Given the description of an element on the screen output the (x, y) to click on. 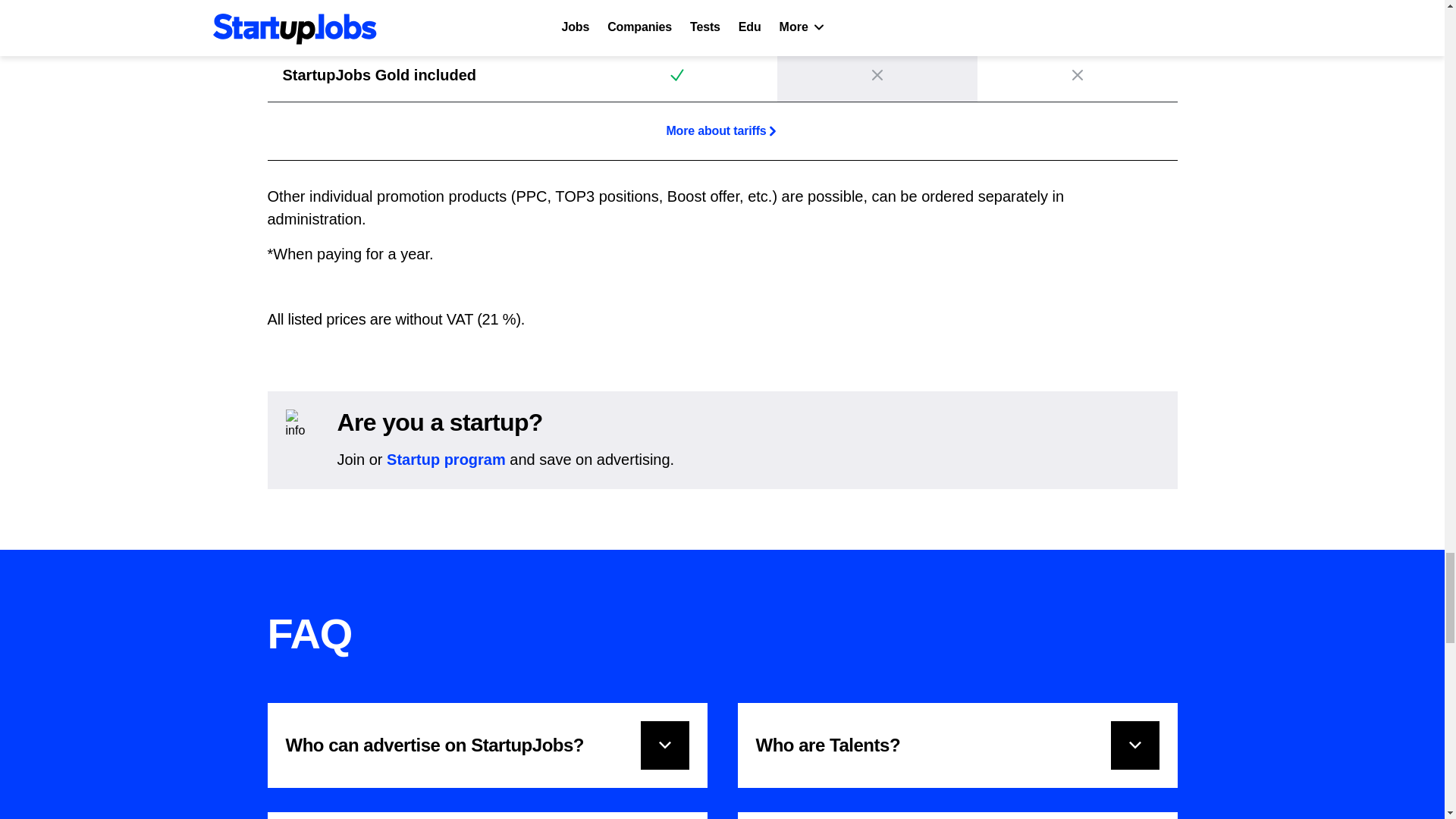
More about tariffs (721, 130)
Who are Talents? (956, 744)
Who can advertise on StartupJobs? (486, 744)
Startup program (446, 459)
